Given the description of an element on the screen output the (x, y) to click on. 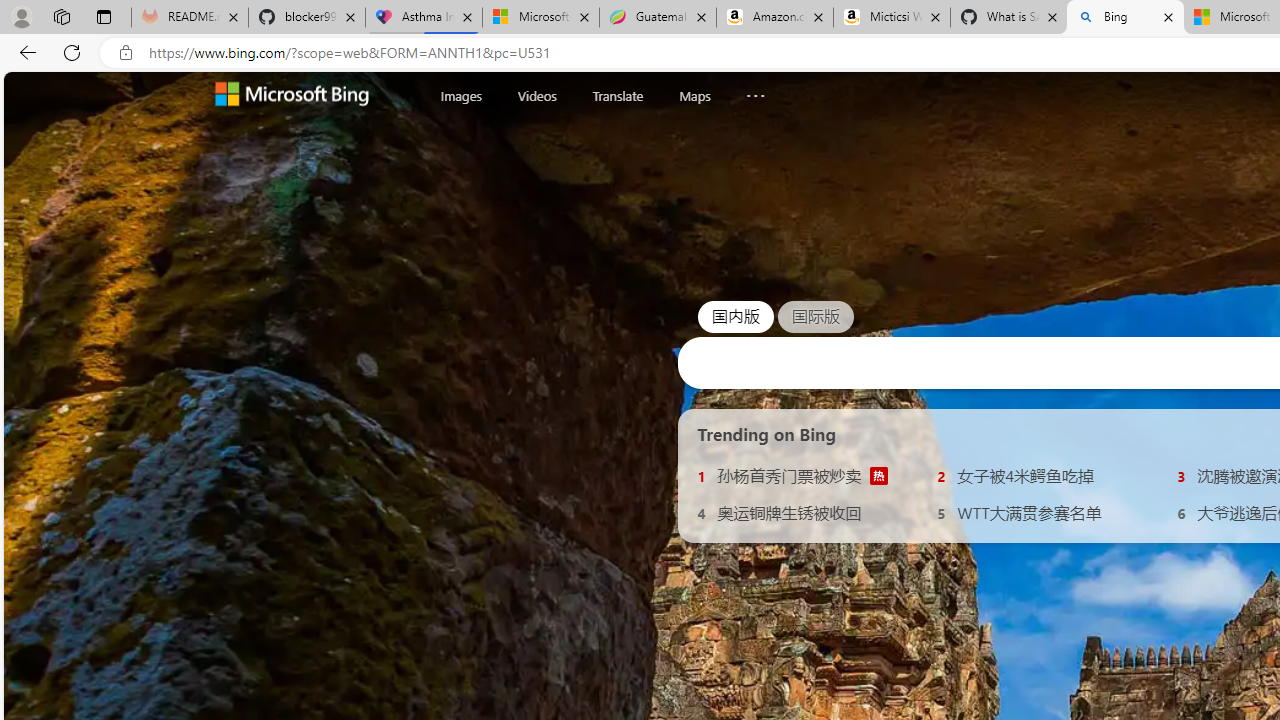
Videos (536, 95)
Translate (617, 95)
Class: scopes  (620, 95)
Images (461, 95)
More (755, 91)
Images (461, 95)
Maps (694, 95)
